Given the description of an element on the screen output the (x, y) to click on. 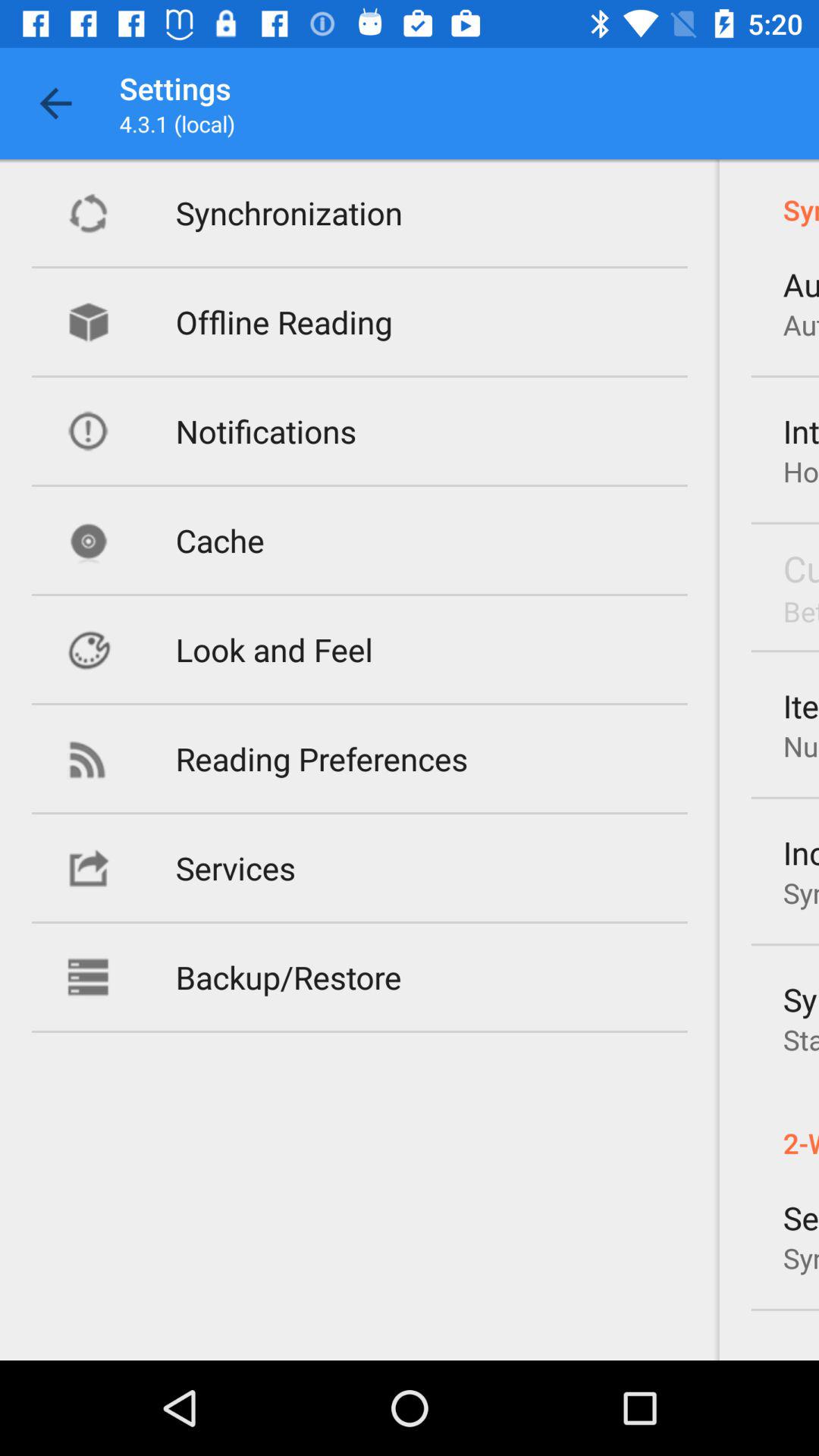
click the item next to the sync on startup icon (288, 976)
